Given the description of an element on the screen output the (x, y) to click on. 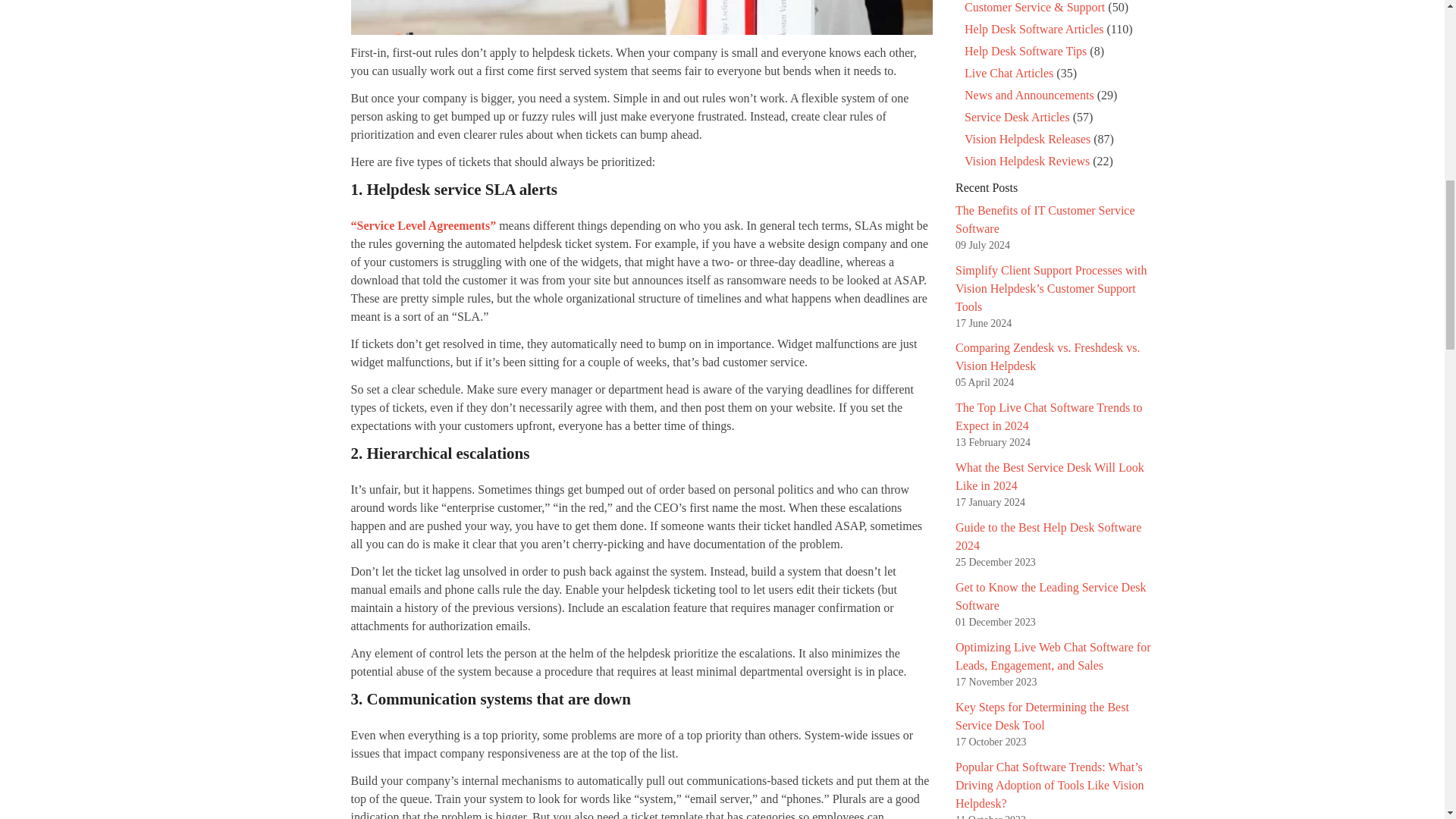
The Top Live Chat Software Trends to Expect in 2024 (1048, 416)
Guide to the Best Help Desk Software 2024 (1048, 536)
Comparing Zendesk vs. Freshdesk vs. Vision Helpdesk (1047, 356)
What the Best Service Desk Will Look Like in 2024 (1049, 476)
Get to Know the Leading Service Desk Software (1050, 595)
The Benefits of IT Customer Service Software (1045, 219)
Key Steps for Determining the Best Service Desk Tool (1042, 716)
